Given the description of an element on the screen output the (x, y) to click on. 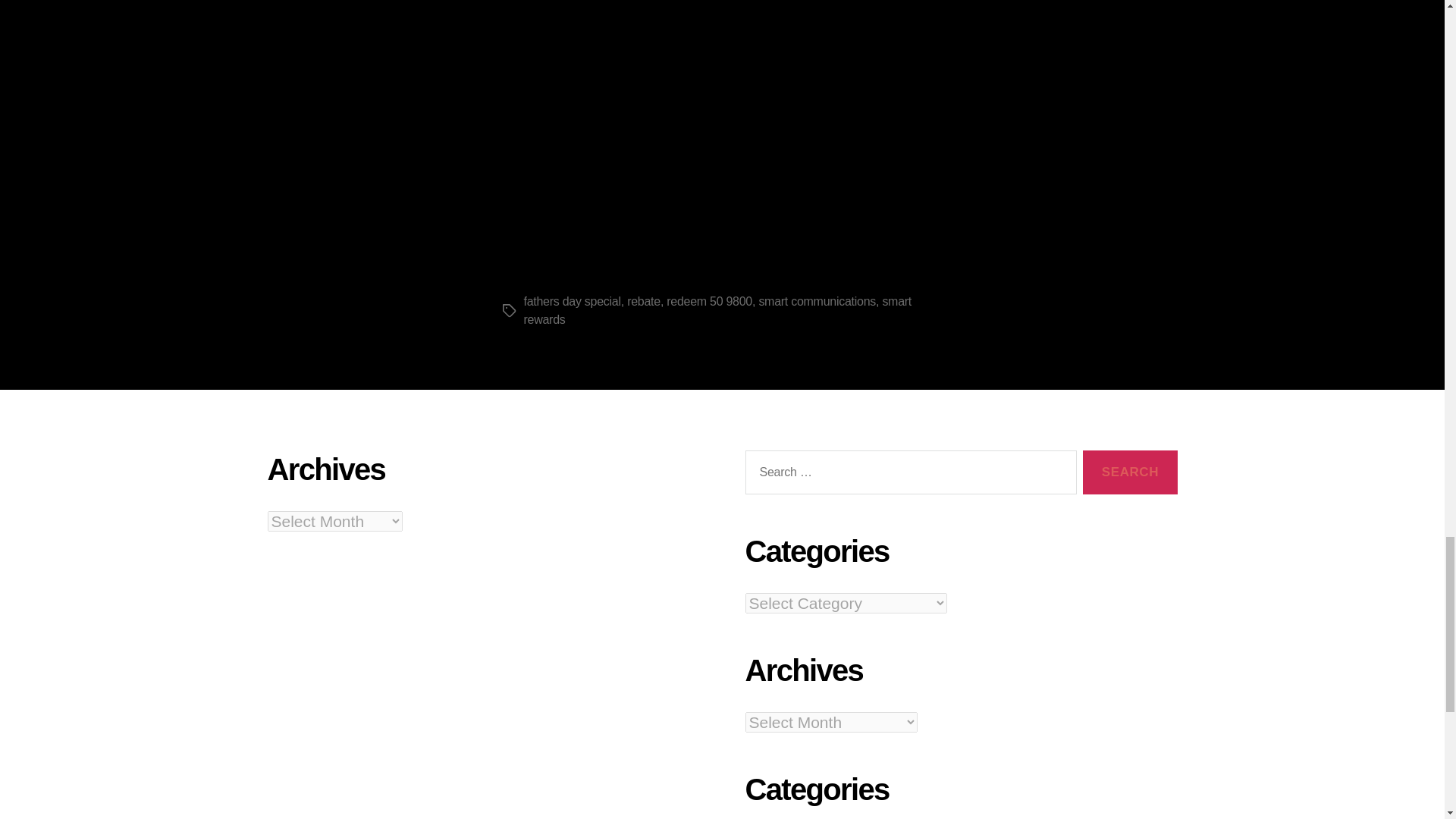
fathers day special (571, 300)
Search (1129, 472)
smart rewards (716, 309)
rebate (644, 300)
Search (1129, 472)
smart communications (817, 300)
Search (1129, 472)
redeem 50 9800 (709, 300)
